Given the description of an element on the screen output the (x, y) to click on. 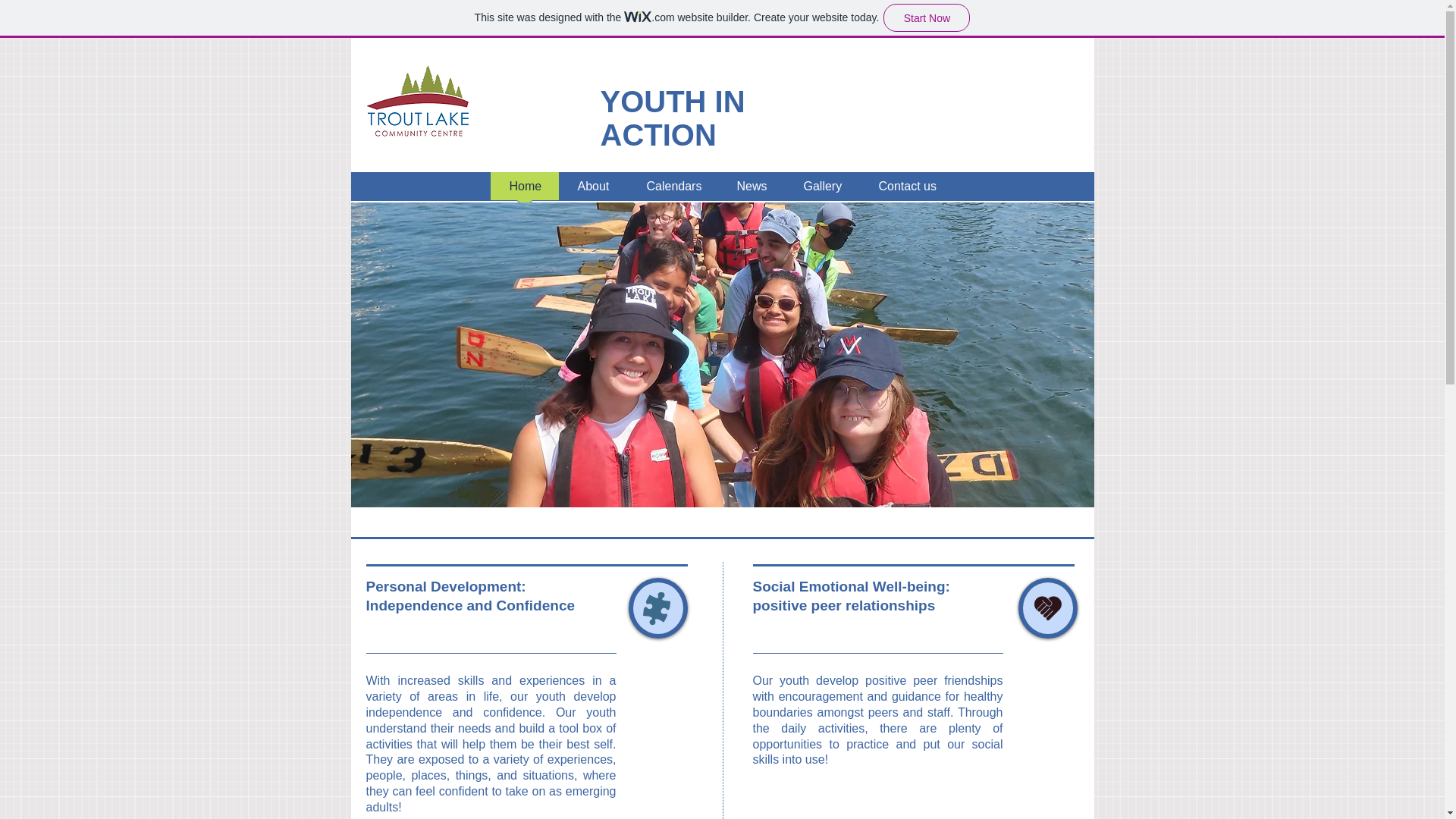
About (592, 190)
News (750, 190)
Log In (1046, 217)
Contact us (907, 190)
Home (523, 190)
Gallery (821, 190)
Calendars (672, 190)
